Given the description of an element on the screen output the (x, y) to click on. 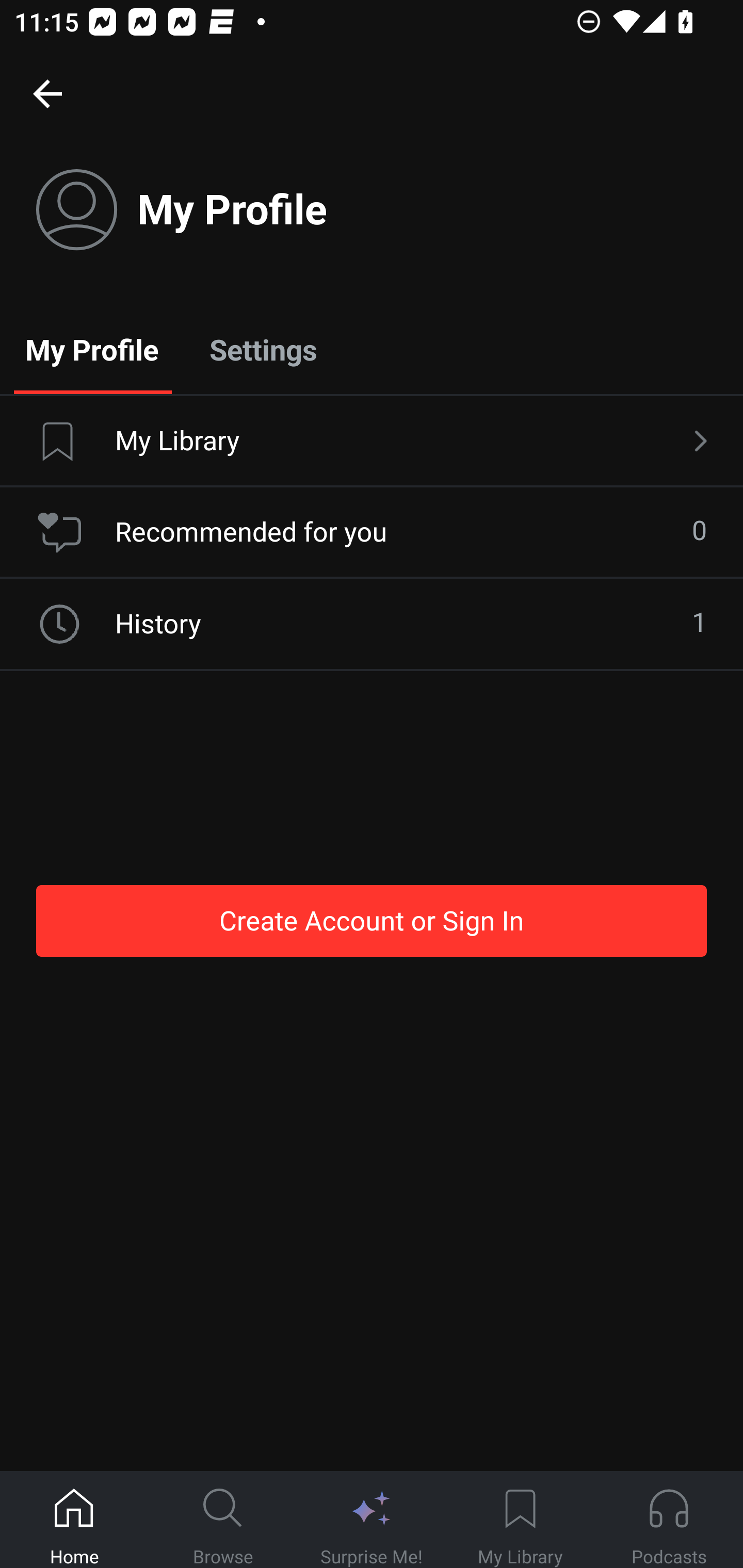
Home, back (47, 92)
My Profile (92, 348)
Settings (263, 348)
My Library (371, 441)
Recommended for you 0 (371, 532)
History 1 (371, 623)
Create Account or Sign In (371, 920)
Home (74, 1520)
Browse (222, 1520)
Surprise Me! (371, 1520)
My Library (519, 1520)
Podcasts (668, 1520)
